Given the description of an element on the screen output the (x, y) to click on. 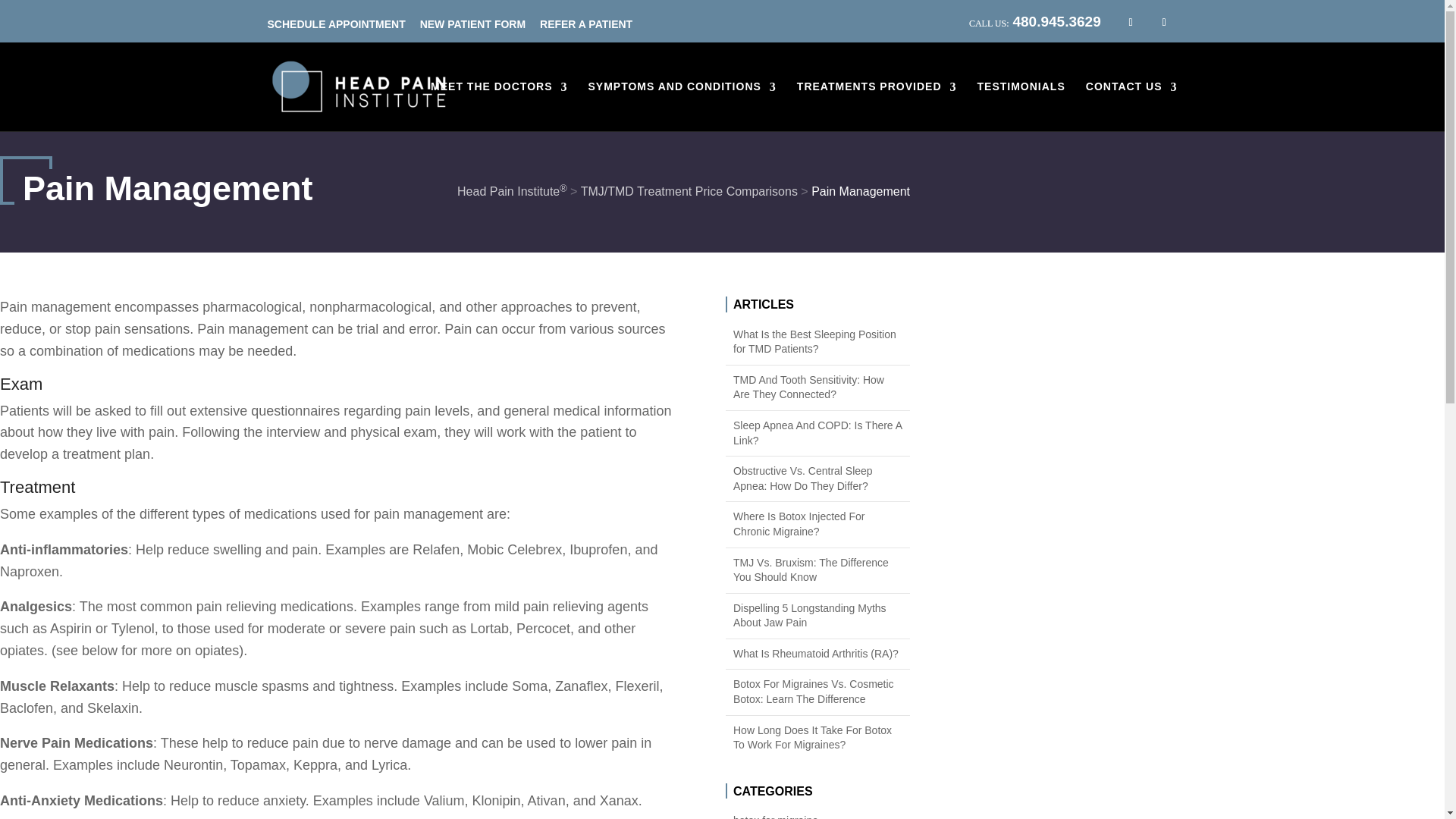
REFER A PATIENT (585, 21)
What Is the Best Sleeping Position for TMD Patients? (817, 342)
NEW PATIENT FORM (472, 21)
Where Is Botox Injected For Chronic Migraine? (817, 523)
How Long Does It Take For Botox To Work For Migraines? (817, 737)
TMJ Vs. Bruxism: The Difference You Should Know (817, 570)
botox for migraine (817, 816)
TESTIMONIALS (1020, 106)
TMD And Tooth Sensitivity: How Are They Connected? (817, 387)
Sleep Apnea And COPD: Is There A Link? (817, 432)
